Given the description of an element on the screen output the (x, y) to click on. 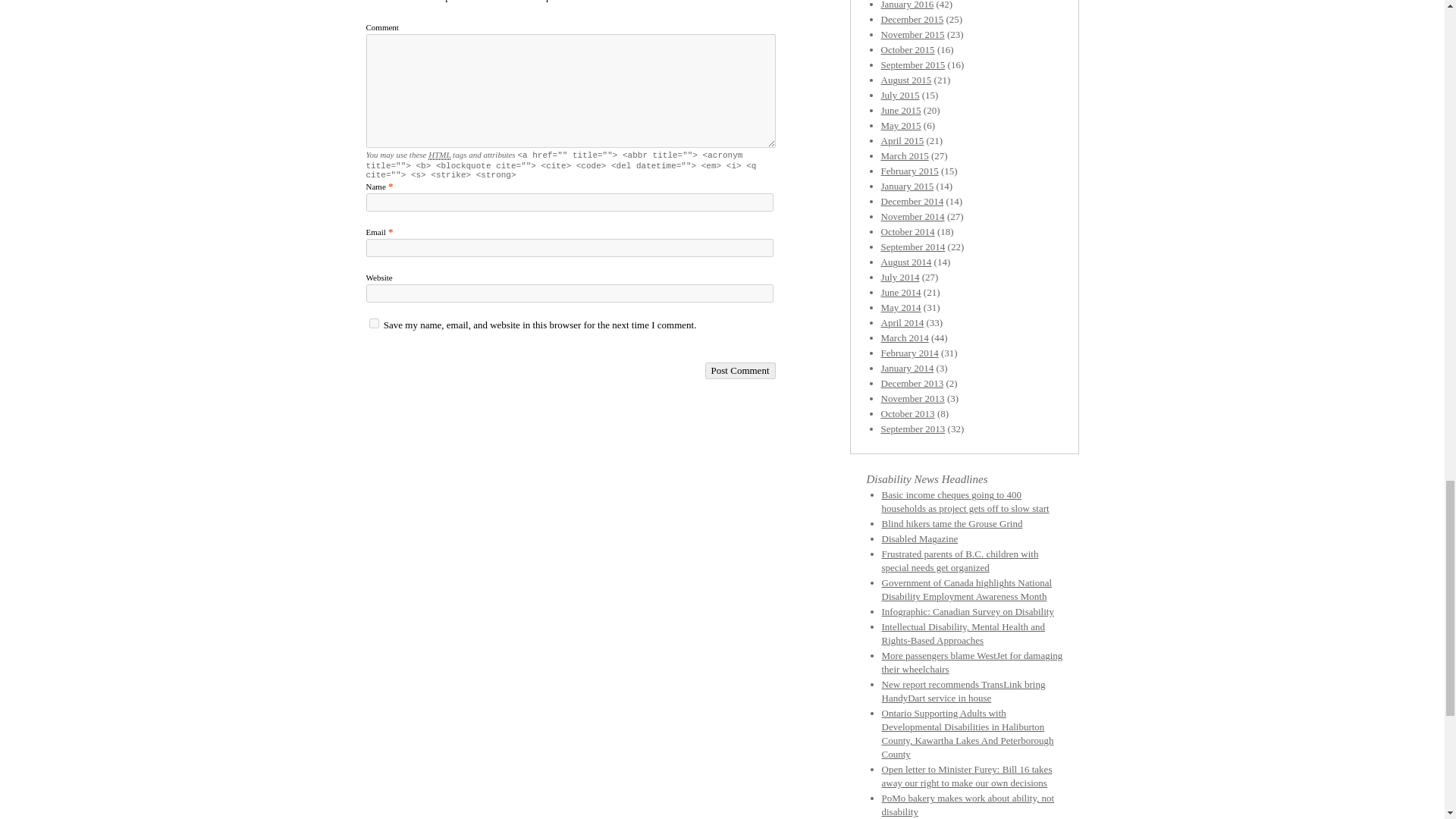
Post Comment (740, 370)
HyperText Markup Language (438, 154)
Post Comment (740, 370)
yes (373, 323)
